Given the description of an element on the screen output the (x, y) to click on. 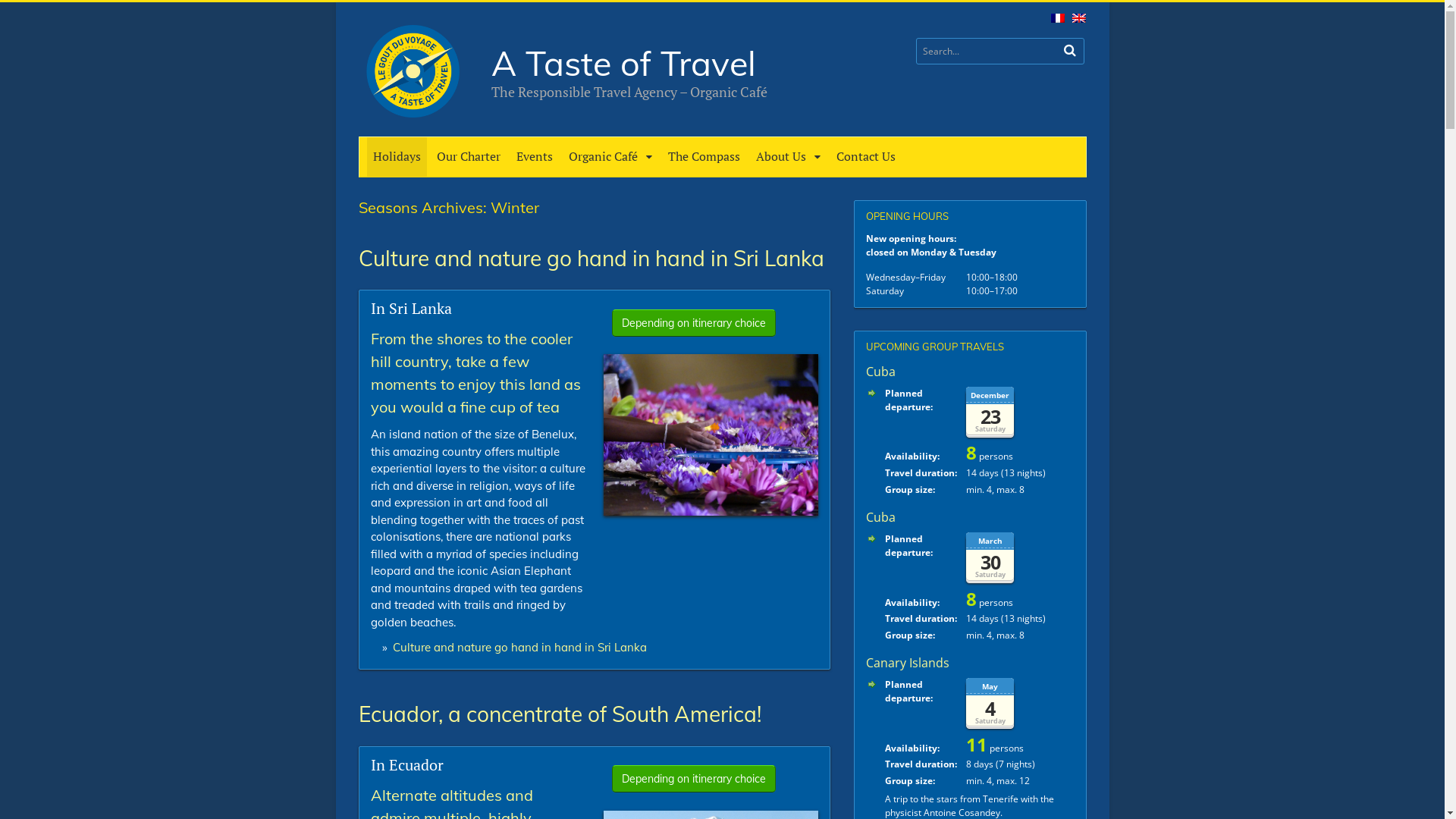
A Taste of Travel Element type: text (623, 62)
Culture and nature go hand in hand in Sri Lanka Element type: hover (711, 509)
The Compass Element type: text (704, 156)
Holidays Element type: text (396, 156)
Contact Us Element type: text (865, 156)
Culture and nature go hand in hand in Sri Lanka Element type: text (590, 257)
Canary Islands Element type: text (907, 662)
Events Element type: text (533, 156)
March
30
Saturday Element type: text (1019, 556)
Ecuador, a concentrate of South America! Element type: text (558, 713)
December
23
Saturday Element type: text (1019, 410)
Cuba Element type: text (880, 371)
May
4
Saturday Element type: text (1019, 701)
Cuba Element type: text (880, 516)
Search Element type: text (1069, 49)
Our Charter Element type: text (468, 156)
Culture and nature go hand in hand in Sri Lanka Element type: text (519, 647)
About Us Element type: text (787, 156)
